Given the description of an element on the screen output the (x, y) to click on. 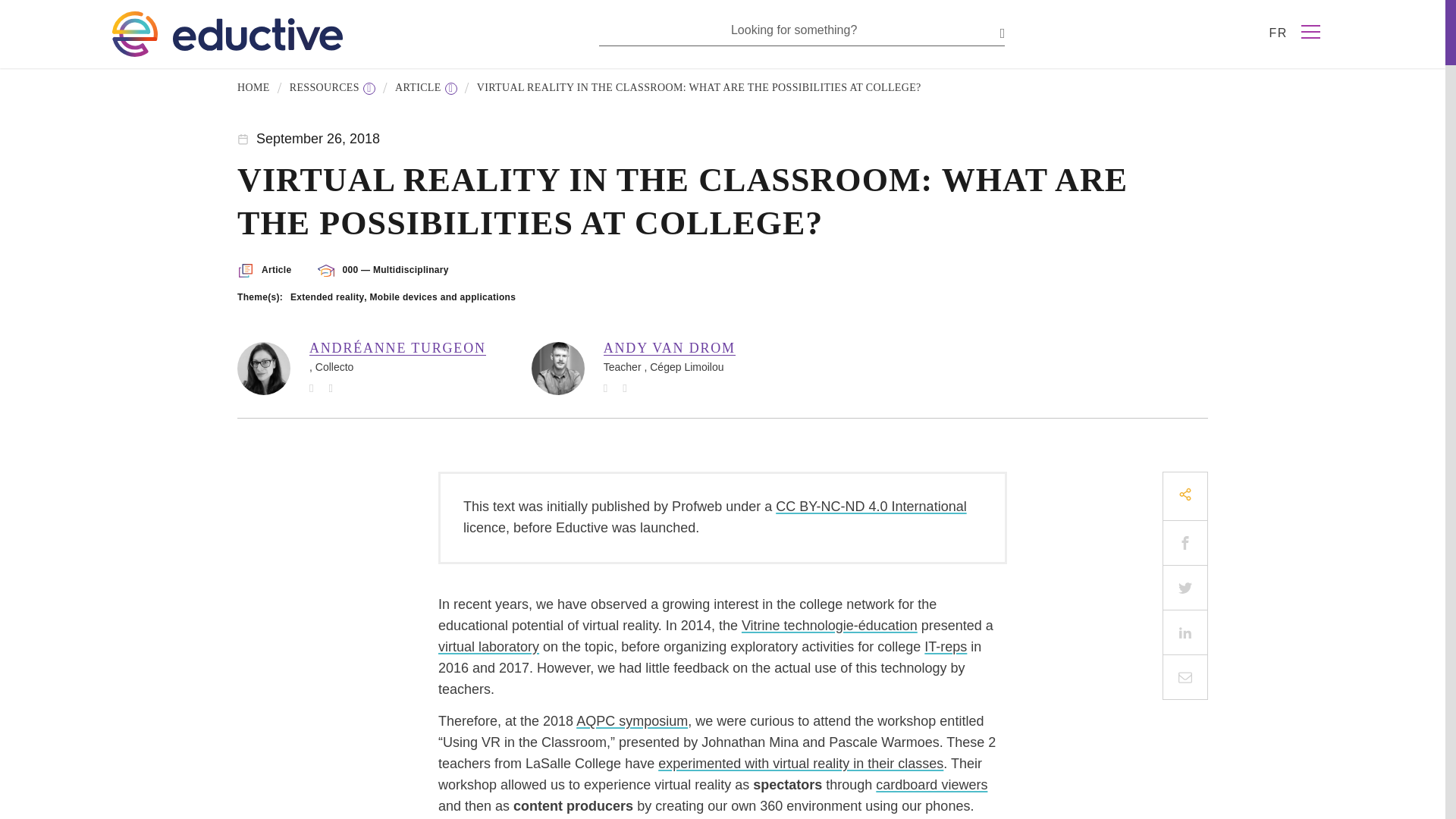
Home (253, 87)
Ressources (332, 87)
Article (425, 87)
FR (1277, 32)
